Given the description of an element on the screen output the (x, y) to click on. 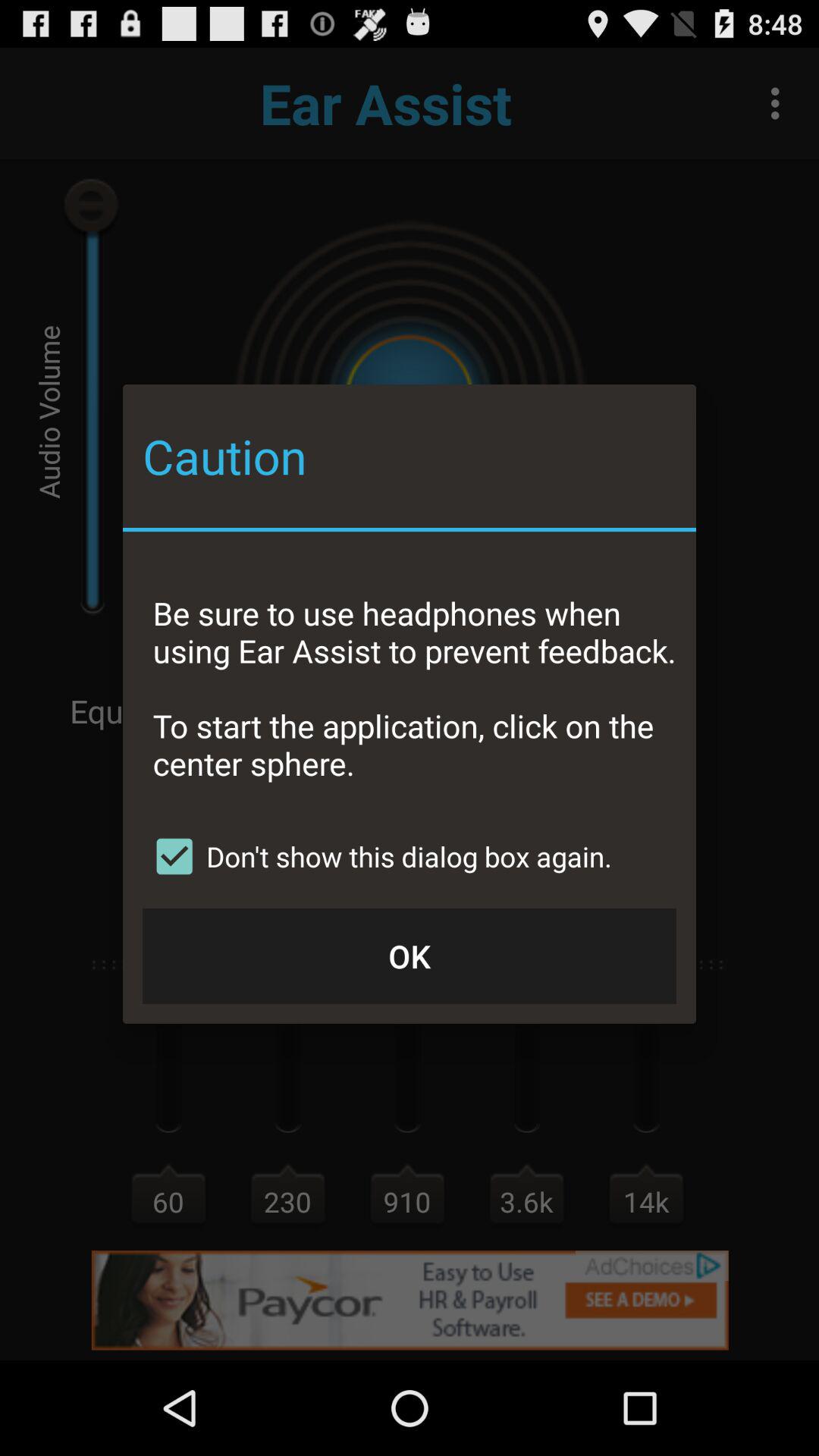
tap the item below don t show (409, 955)
